Given the description of an element on the screen output the (x, y) to click on. 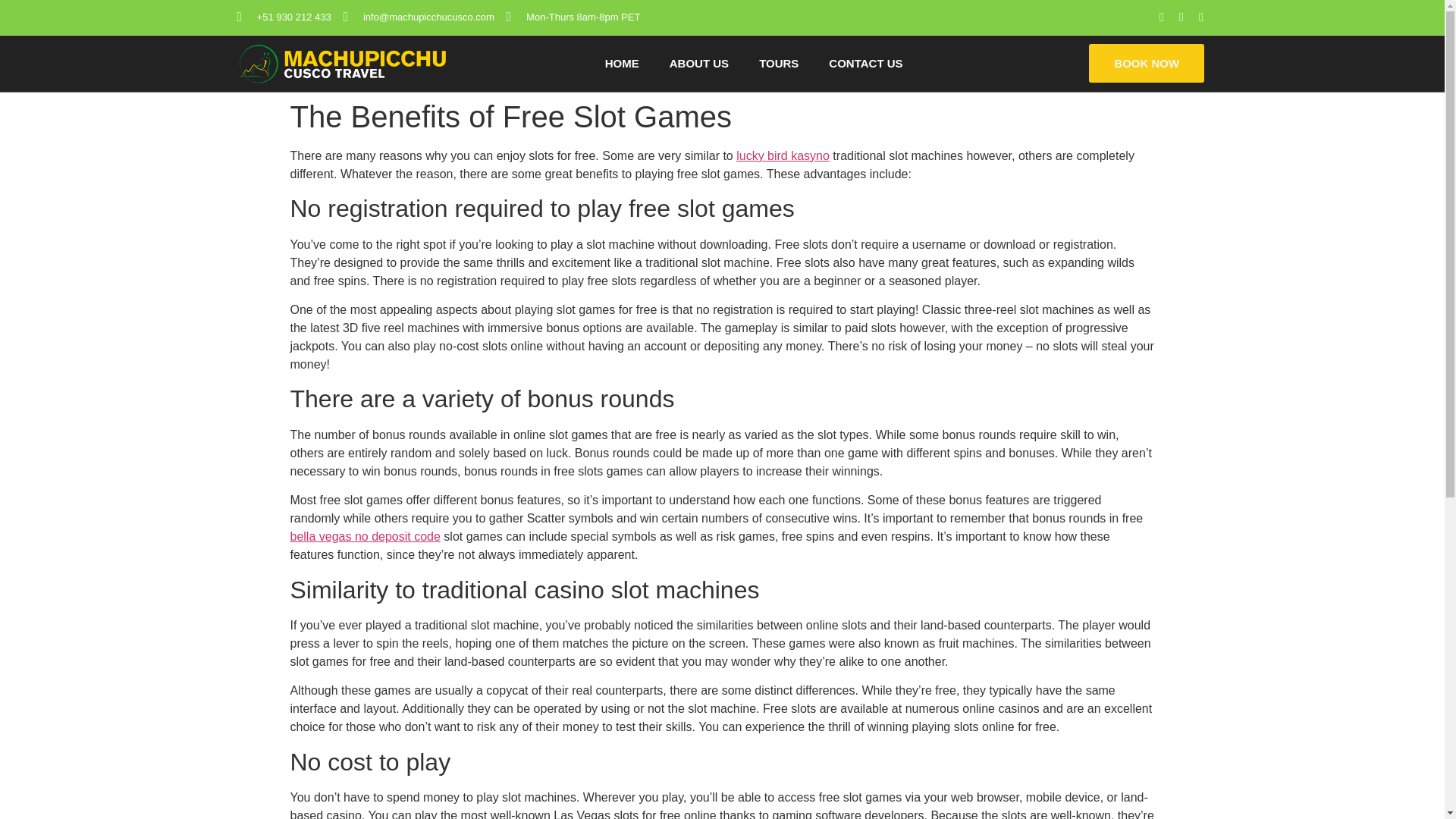
CONTACT US (865, 63)
TOURS (778, 63)
ABOUT US (698, 63)
lucky bird kasyno (782, 155)
HOME (621, 63)
bella vegas no deposit code (364, 535)
BOOK NOW (1146, 63)
